Given the description of an element on the screen output the (x, y) to click on. 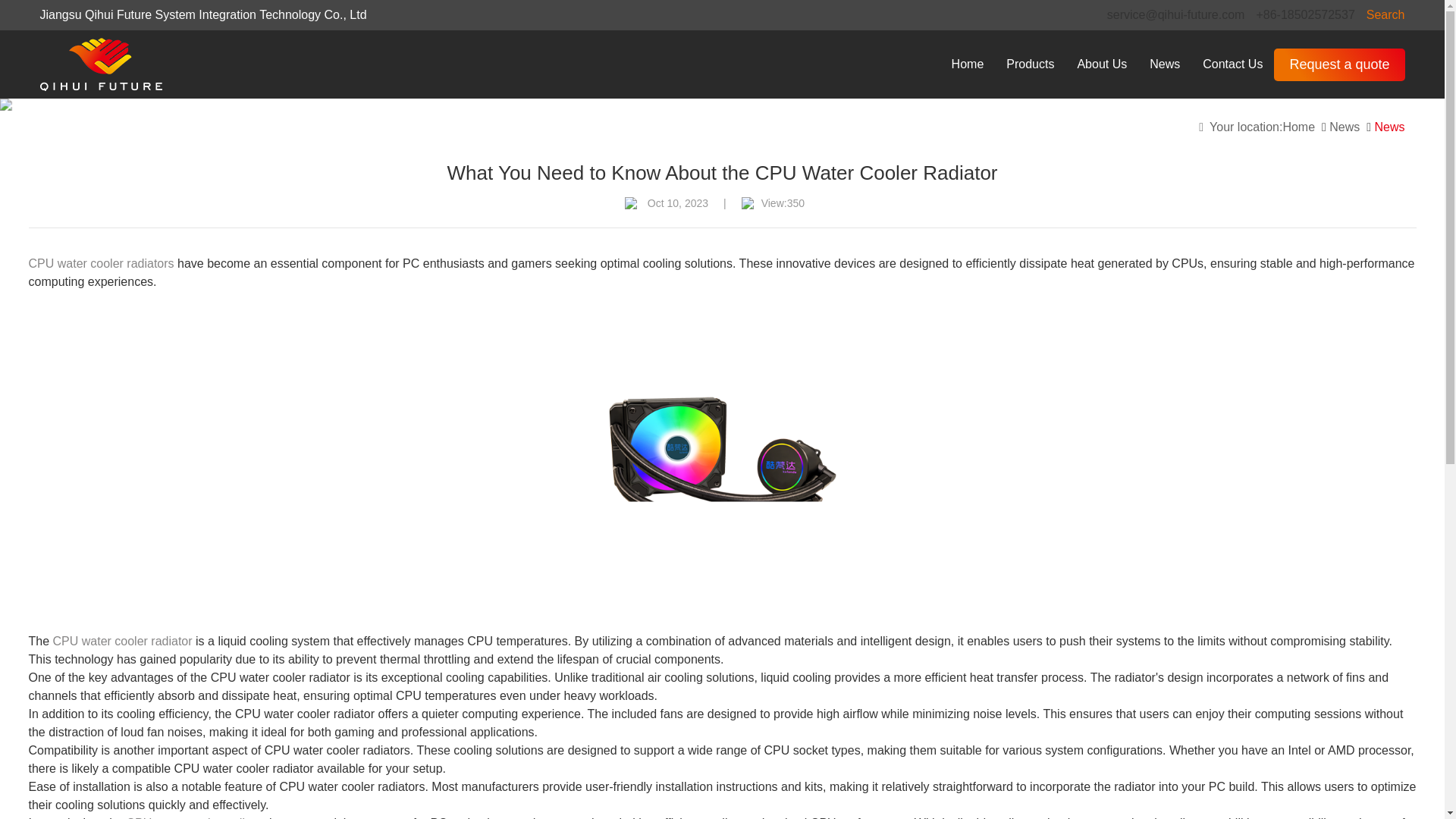
Home (967, 63)
cpu water cooler radiator (722, 461)
Products (1029, 63)
computer part wholesalers (100, 63)
